Given the description of an element on the screen output the (x, y) to click on. 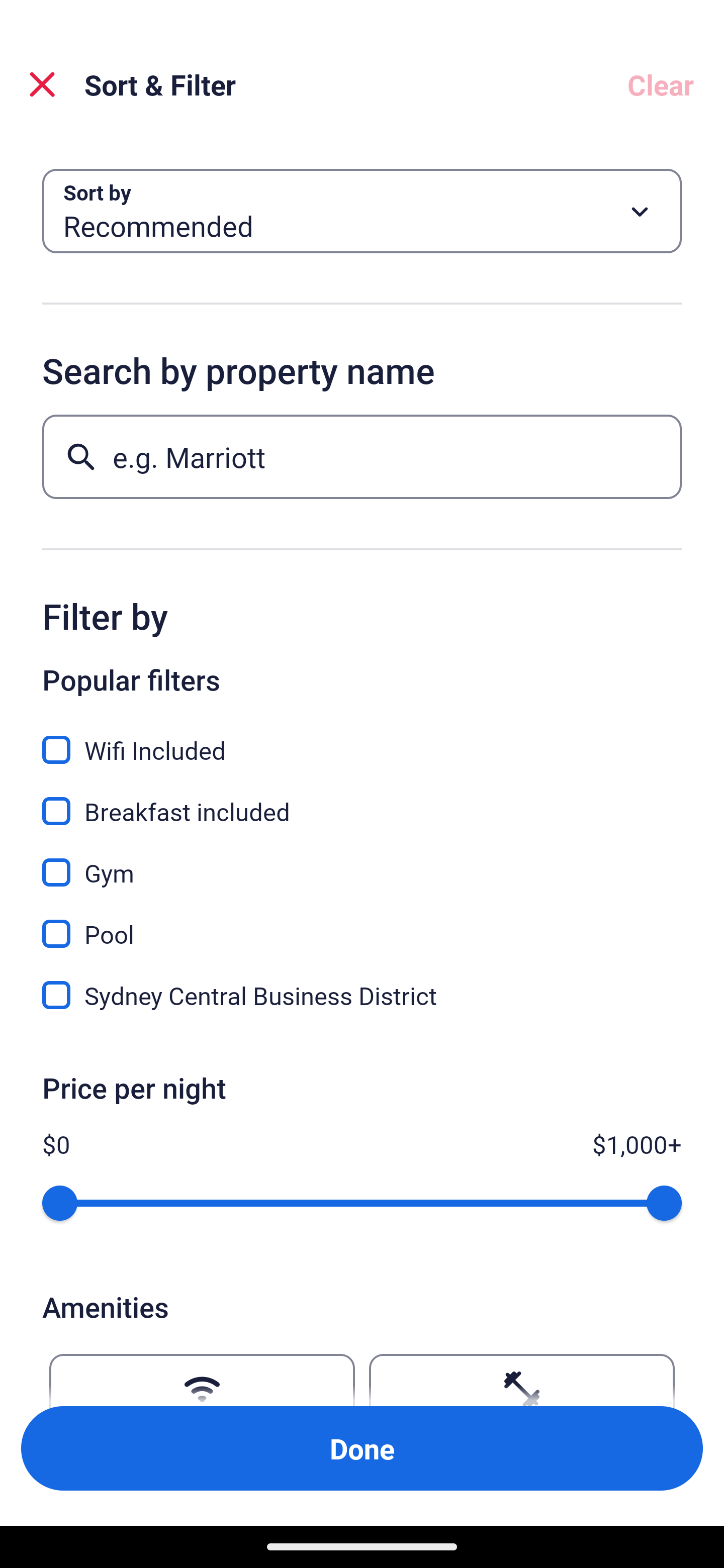
Close Sort and Filter (42, 84)
Clear (660, 84)
Sort by Button Recommended (361, 211)
e.g. Marriott Button (361, 455)
Wifi Included, Wifi Included (361, 738)
Breakfast included, Breakfast included (361, 800)
Gym, Gym (361, 861)
Pool, Pool (361, 922)
Apply and close Sort and Filter Done (361, 1448)
